Given the description of an element on the screen output the (x, y) to click on. 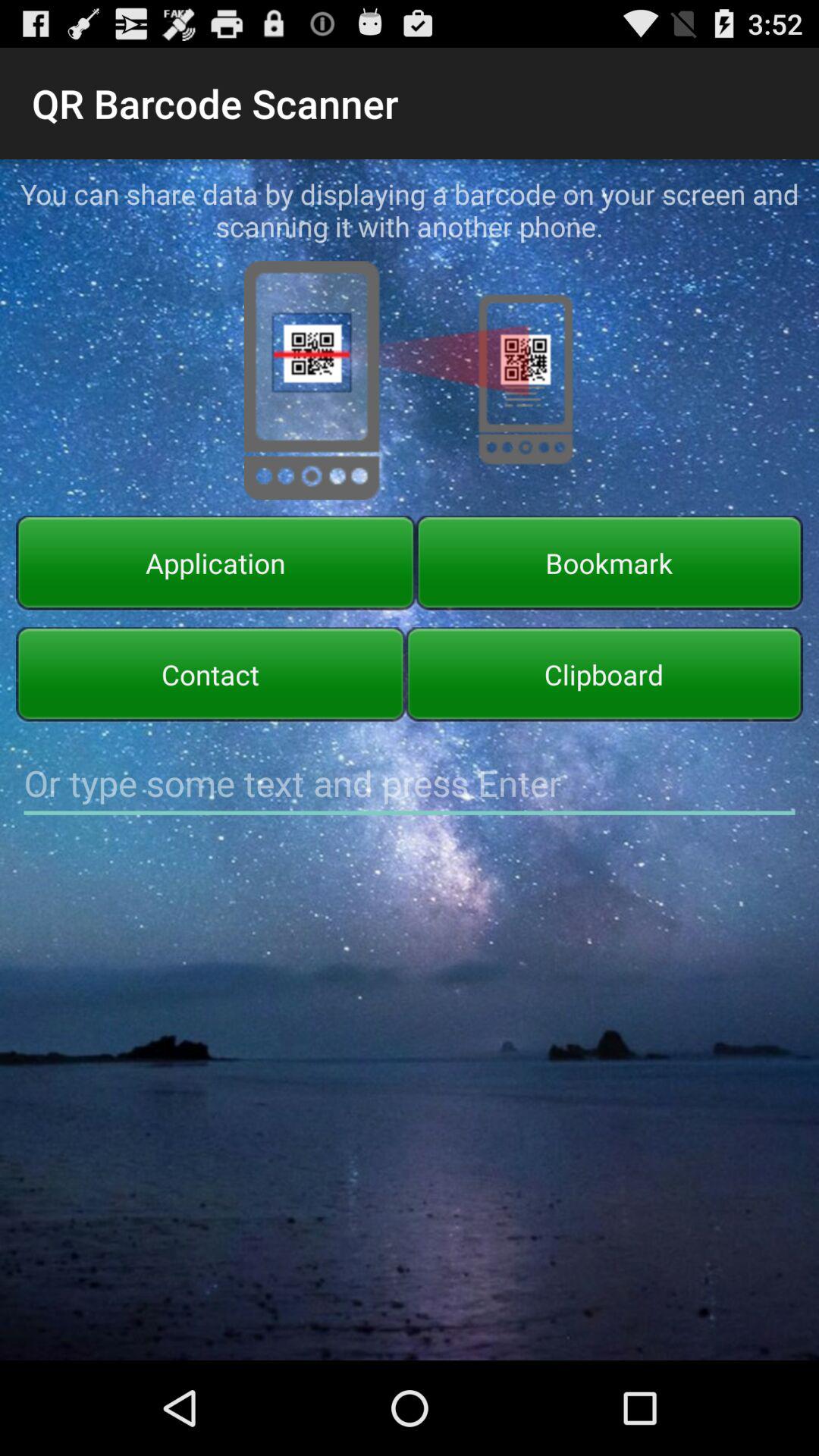
type text (409, 783)
